Given the description of an element on the screen output the (x, y) to click on. 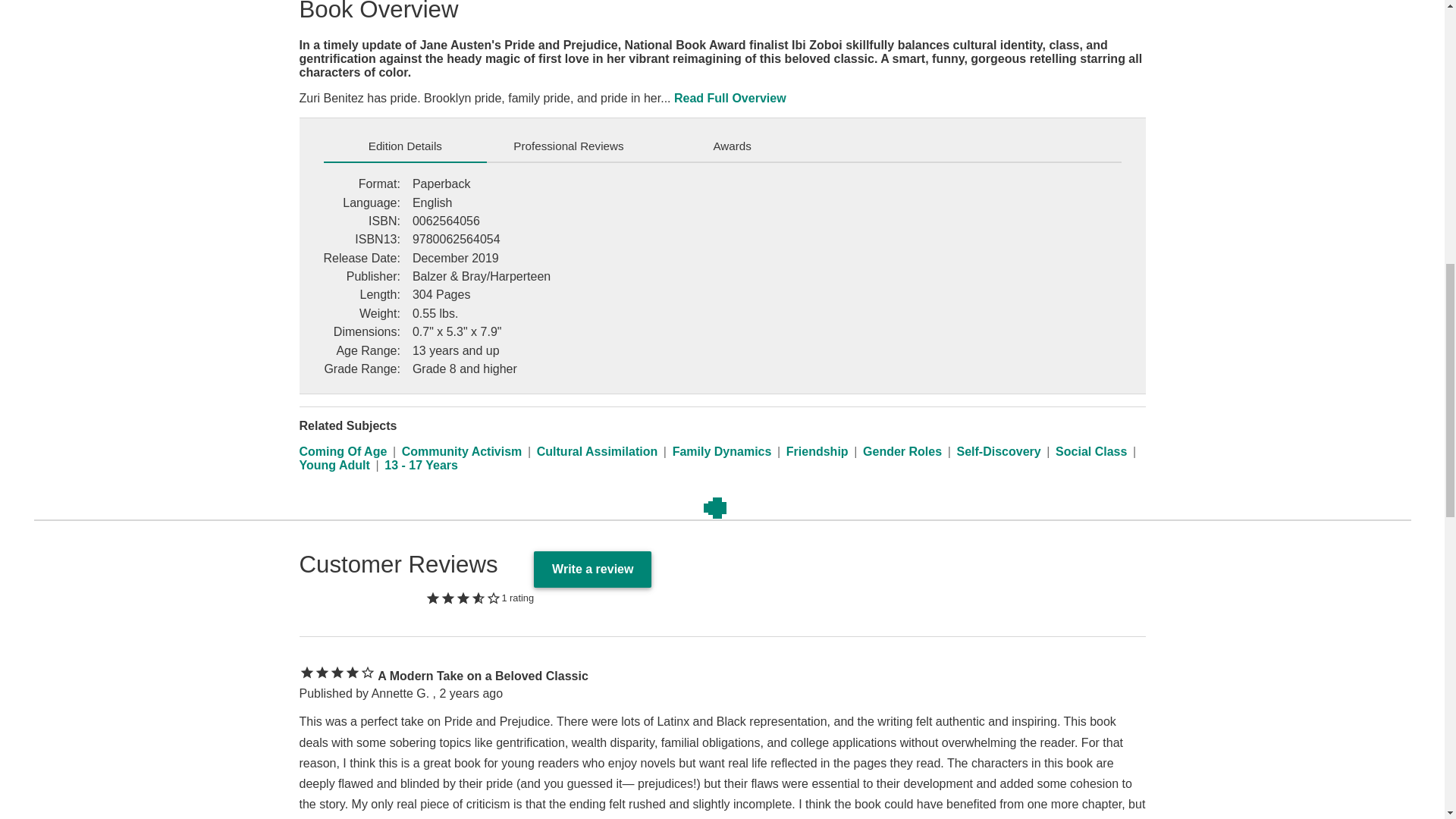
Gender Roles (902, 451)
Awards (731, 146)
Edition Details (404, 146)
Community Activism (461, 451)
Self-Discovery (998, 451)
Family Dynamics (721, 451)
Friendship (817, 451)
Coming Of Age (342, 451)
Cultural Assimilation (597, 451)
Read Full Overview (730, 98)
Professional Reviews (568, 146)
Social Class (1090, 451)
